Given the description of an element on the screen output the (x, y) to click on. 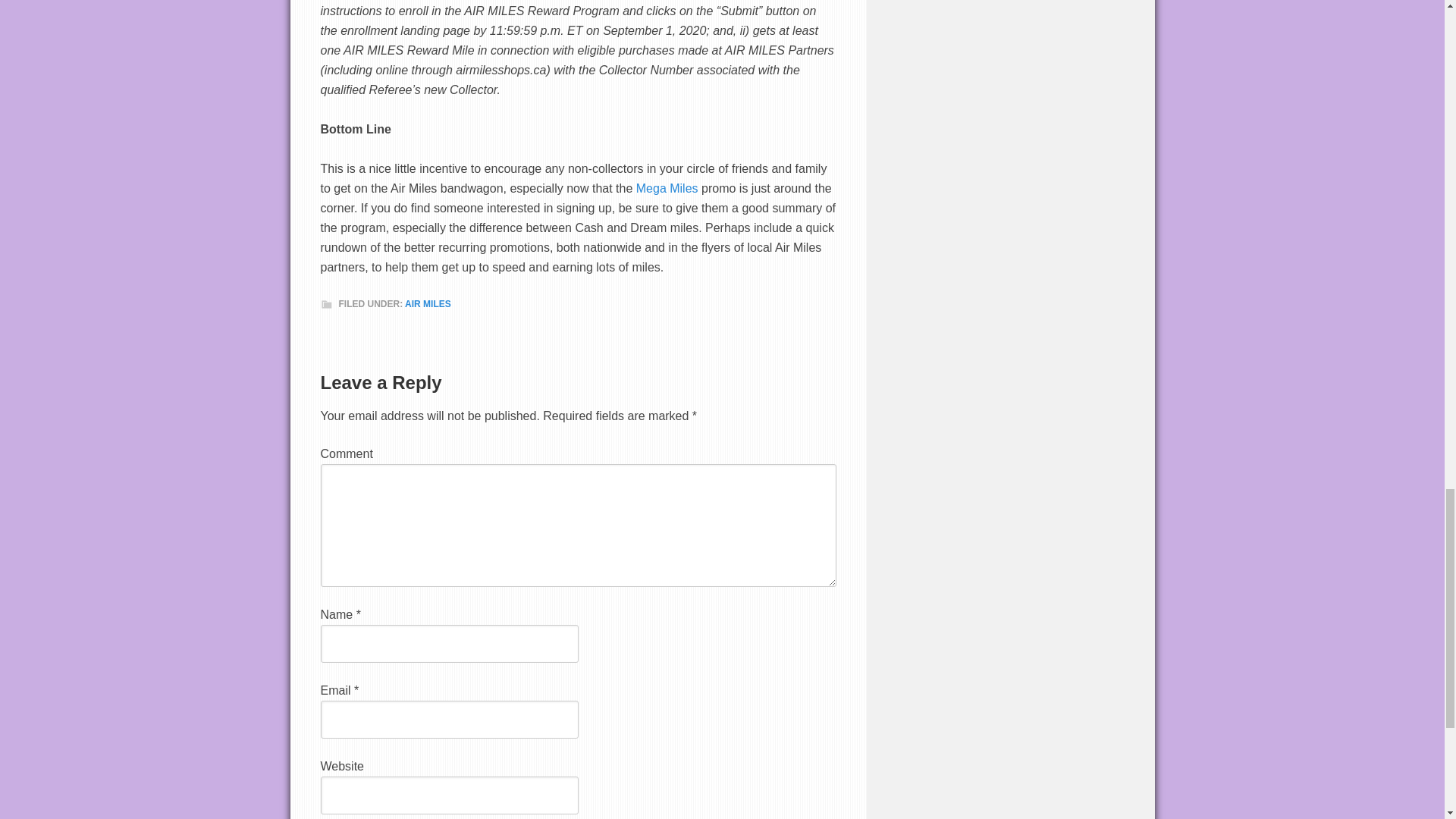
Mega Miles (667, 187)
AIR MILES (427, 303)
